Given the description of an element on the screen output the (x, y) to click on. 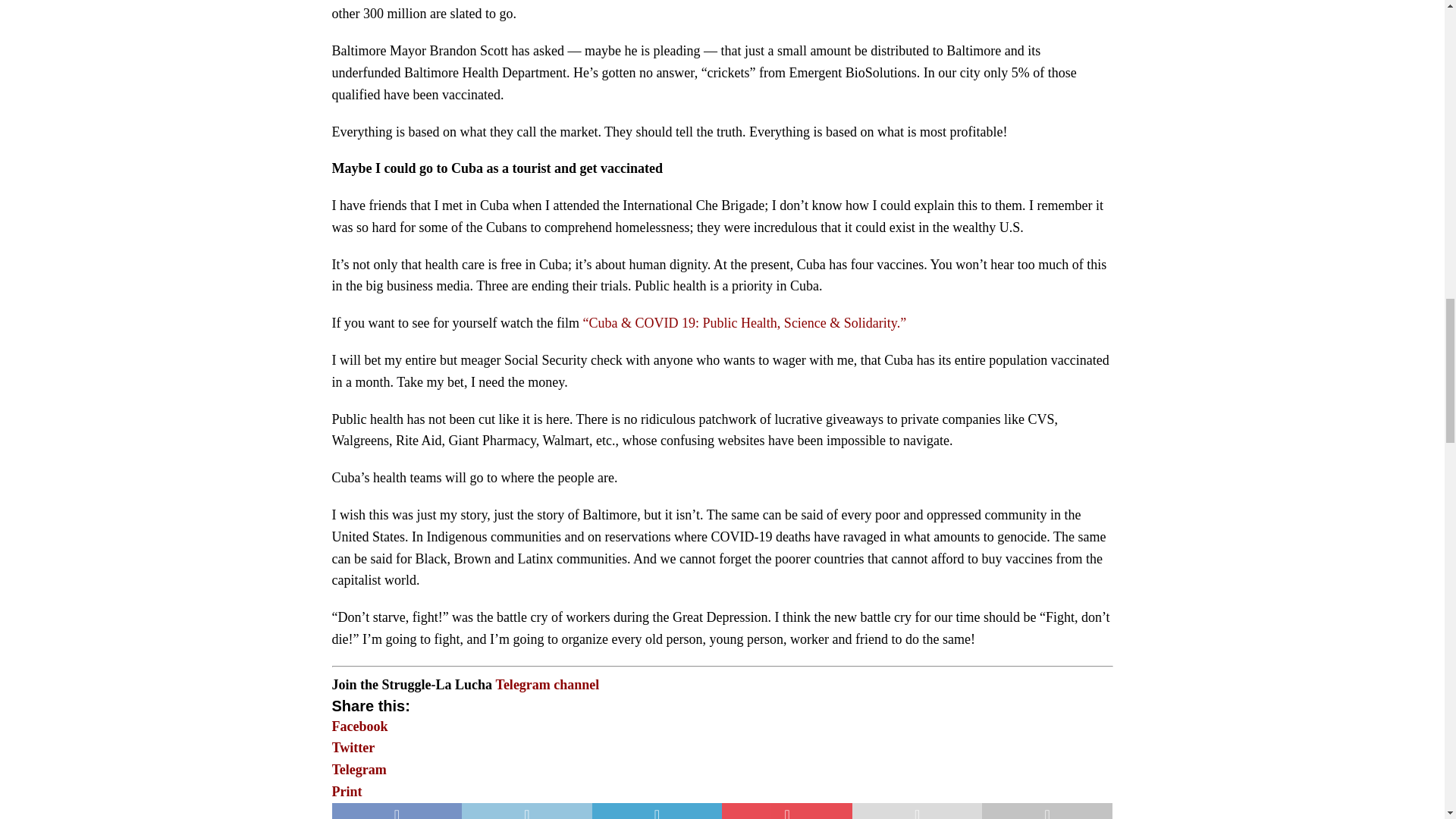
Facebook (359, 726)
Print (346, 791)
Click to print (346, 791)
Click to share on Telegram (359, 769)
Click to share on Facebook (359, 726)
Telegram (359, 769)
Telegram channel (547, 684)
Twitter (353, 747)
Click to share on Twitter (353, 747)
